Given the description of an element on the screen output the (x, y) to click on. 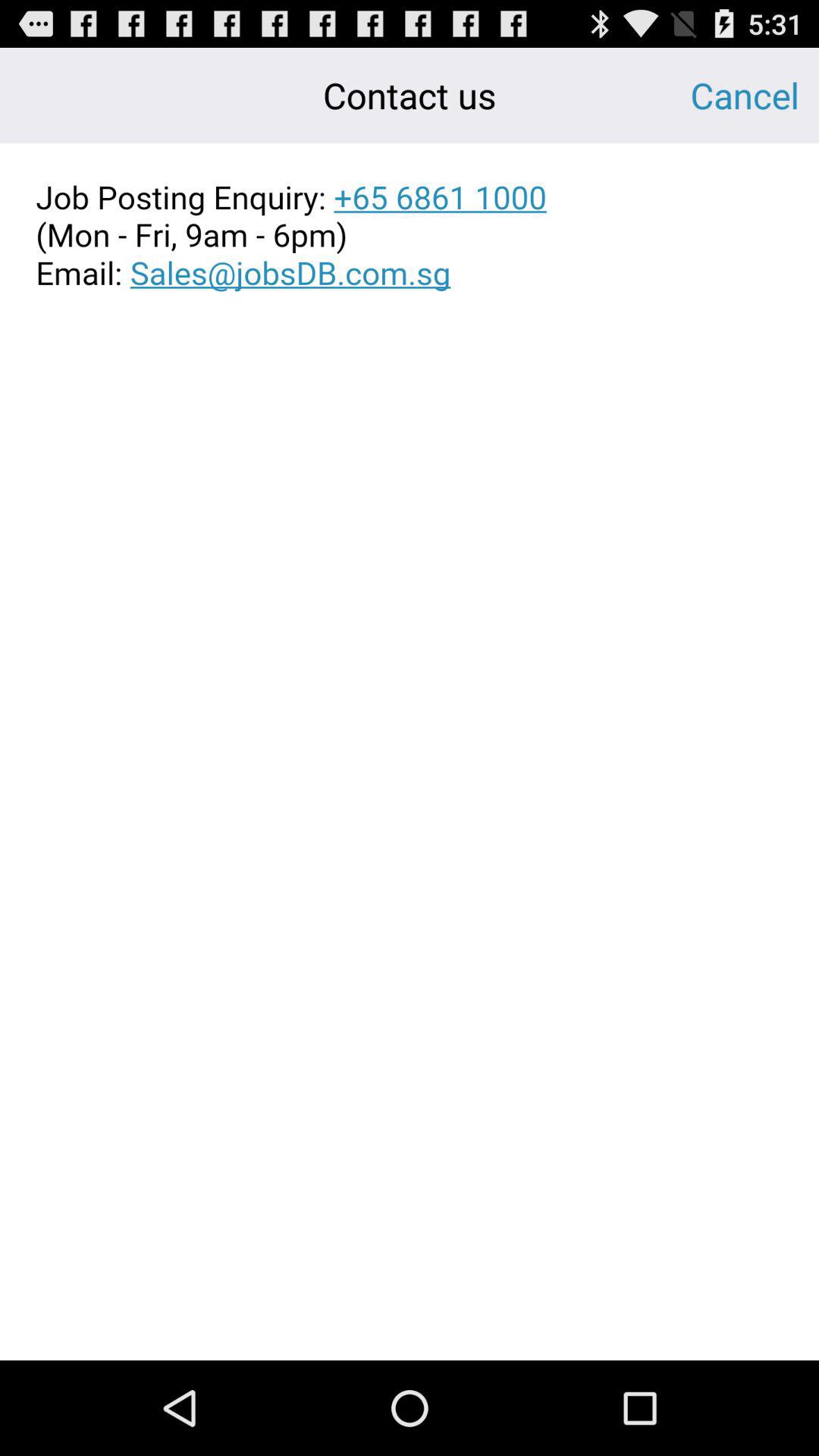
copy text (409, 235)
